Given the description of an element on the screen output the (x, y) to click on. 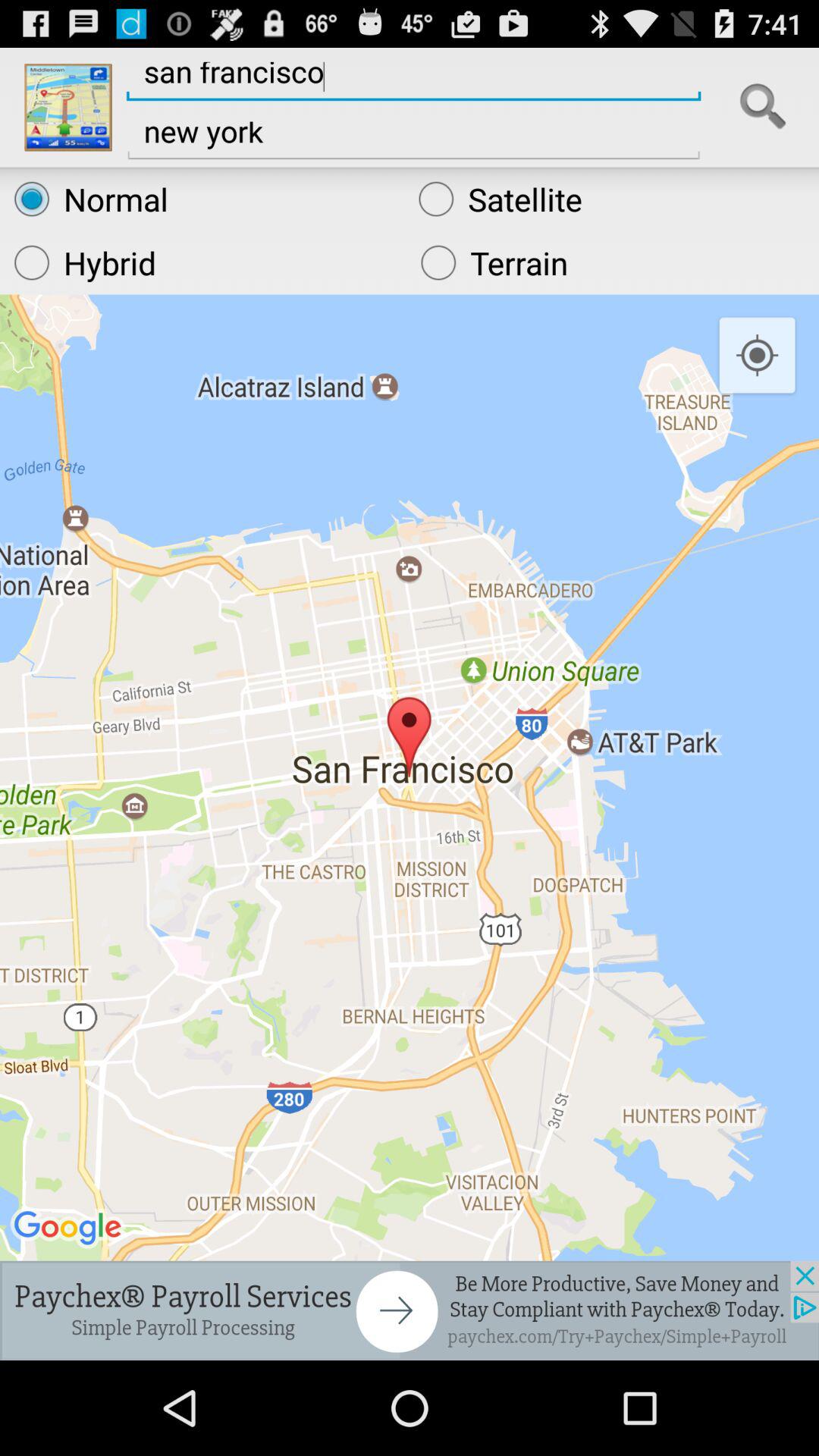
search for directions (763, 107)
